Given the description of an element on the screen output the (x, y) to click on. 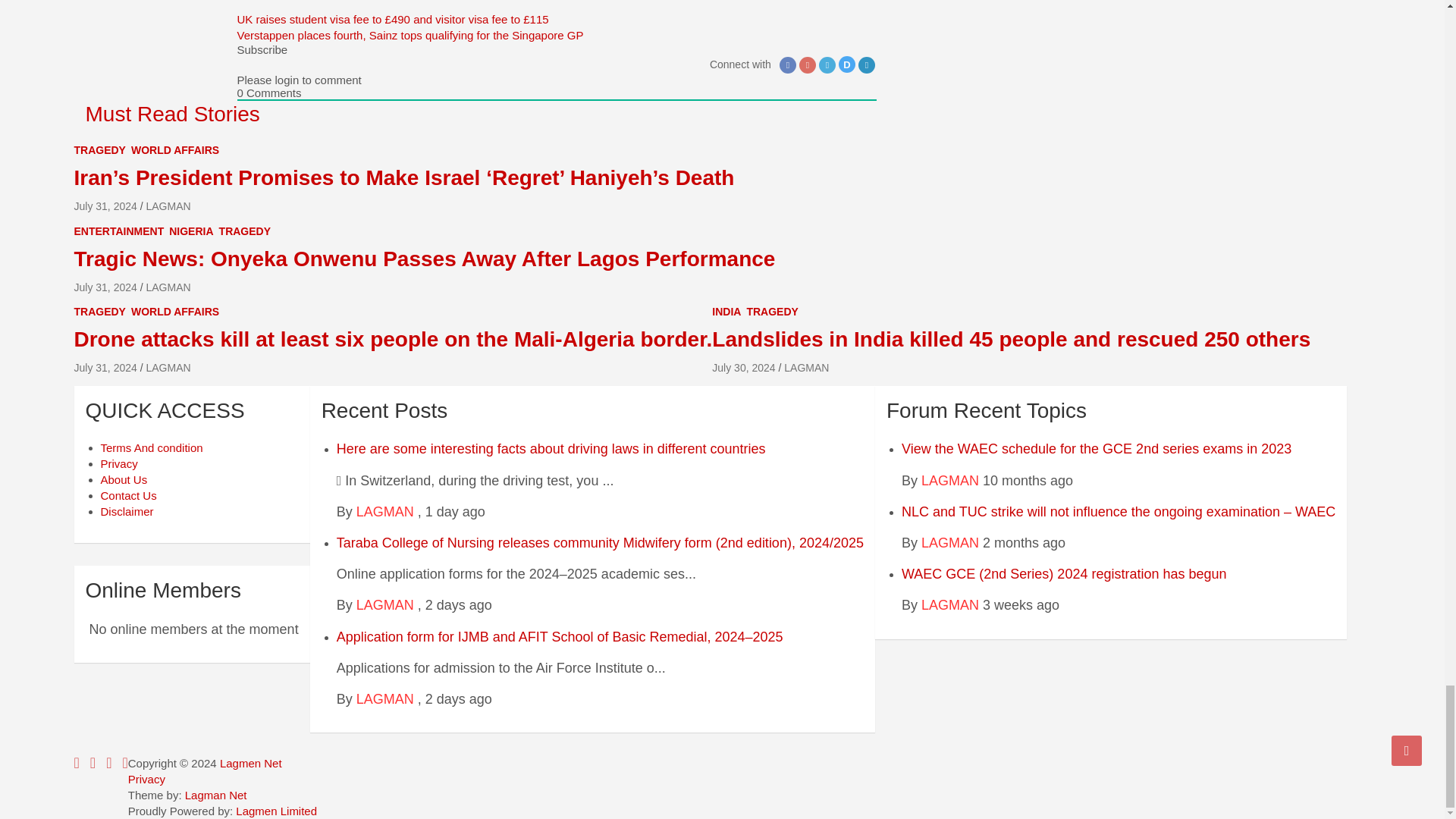
Landslides in India killed 45 people and rescued 250 others (742, 367)
LAGMAN (384, 511)
LAGMAN (384, 604)
